Given the description of an element on the screen output the (x, y) to click on. 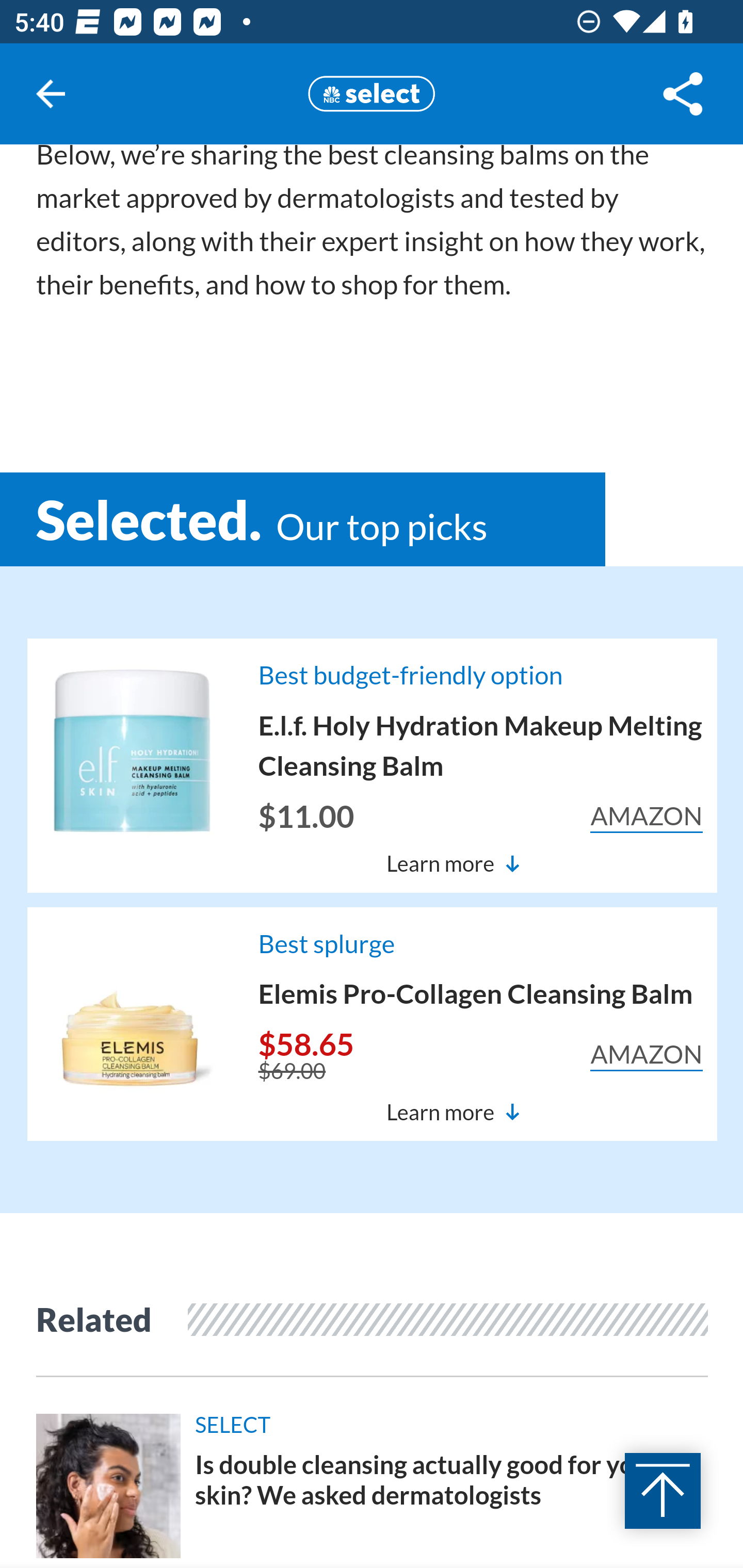
Navigate up (50, 93)
Share Article, button (683, 94)
Header, Select (371, 93)
AMAZON (646, 816)
Learn more (453, 863)
AMAZON (646, 1055)
Learn more (453, 1113)
SELECT (451, 1430)
best-double-cleansing-products-rcna94713 (109, 1486)
